Given the description of an element on the screen output the (x, y) to click on. 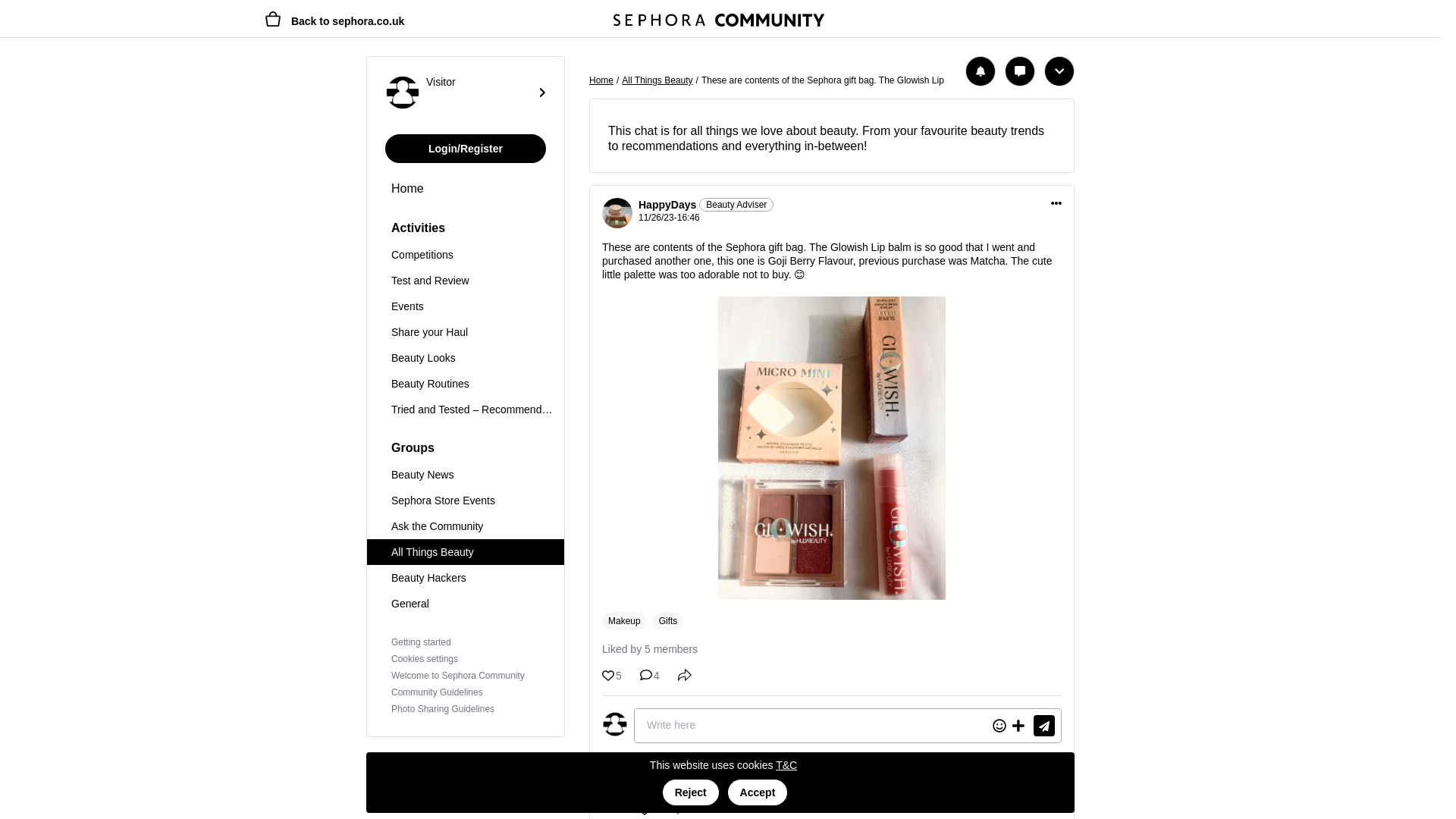
Beauty News (465, 474)
Events (465, 306)
Welcome to Sephora Community (457, 675)
Share your Haul (465, 331)
Beauty Looks (465, 357)
Beauty Routines (465, 383)
Home (465, 188)
Getting started (421, 642)
Community Guidelines (437, 692)
Makeup (624, 620)
Sephora Store Events (465, 500)
Photo Sharing Guidelines (443, 708)
Visitor (465, 91)
General (465, 603)
Test and Review (465, 280)
